Given the description of an element on the screen output the (x, y) to click on. 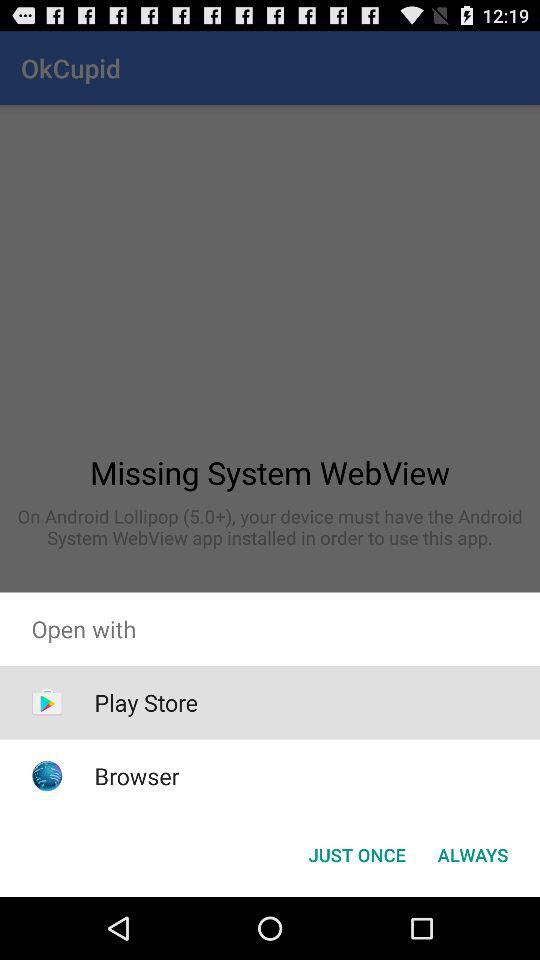
tap browser (136, 775)
